Given the description of an element on the screen output the (x, y) to click on. 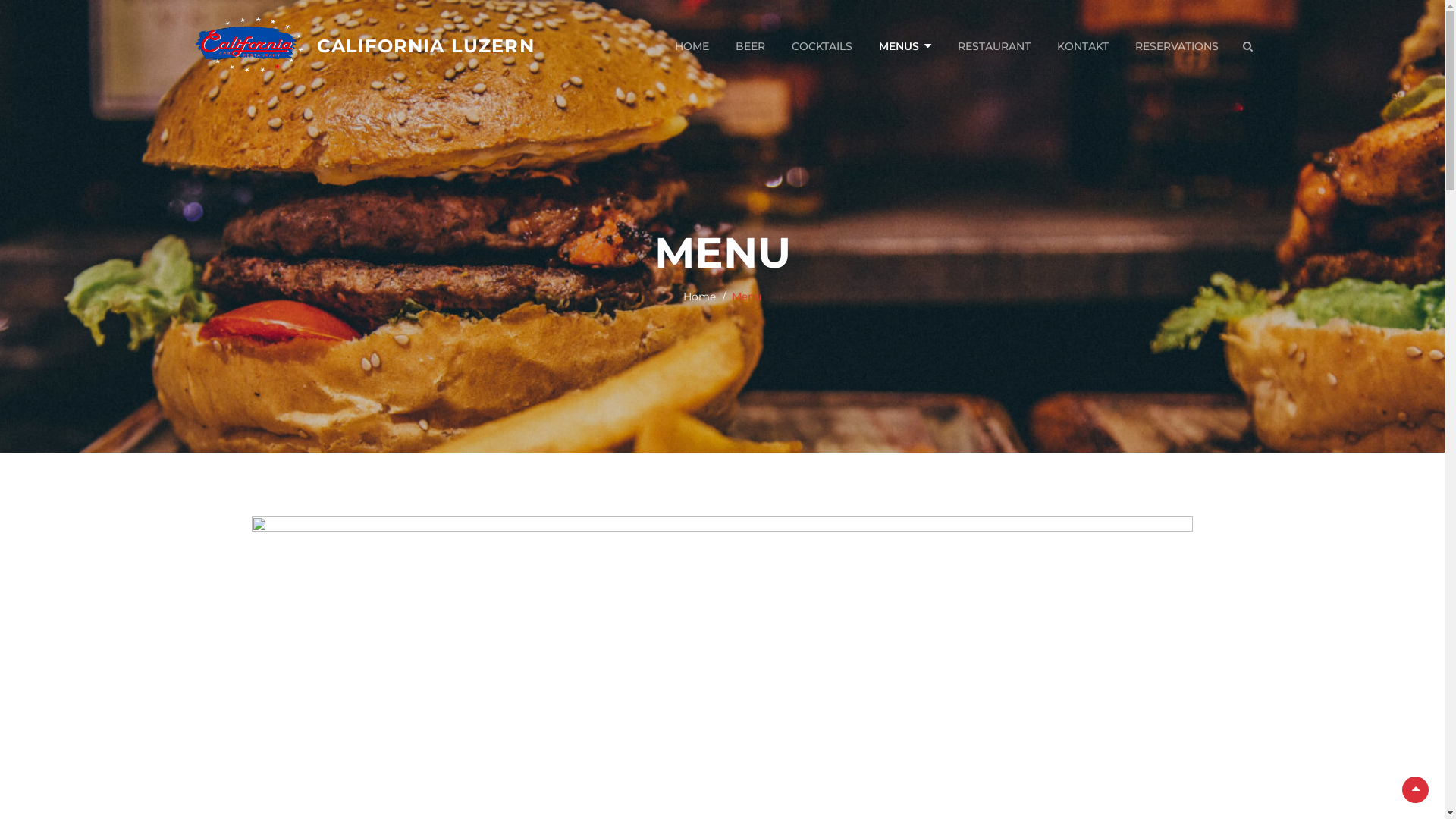
KONTAKT Element type: text (1081, 46)
SEARCH Element type: text (1246, 45)
HOME Element type: text (690, 46)
MENUS Element type: text (904, 46)
RESERVATIONS Element type: text (1176, 46)
Scroll Up Element type: text (1415, 789)
BEER Element type: text (749, 46)
CALIFORNIA LUZERN Element type: text (425, 45)
Home Element type: text (699, 296)
COCKTAILS Element type: text (820, 46)
RESTAURANT Element type: text (993, 46)
